Given the description of an element on the screen output the (x, y) to click on. 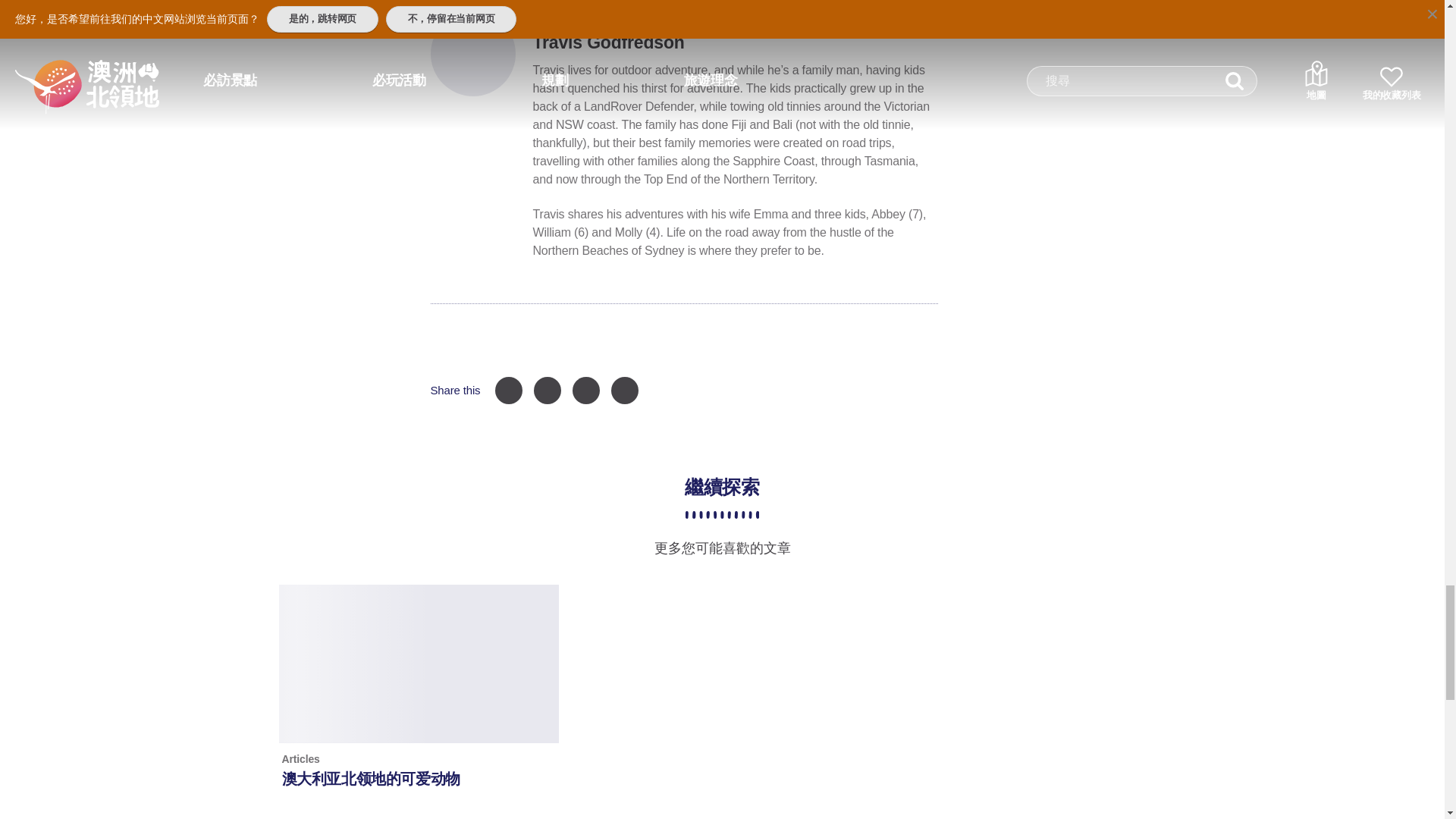
Pinterest (547, 390)
Facebook (508, 390)
Twitter (585, 390)
